Given the description of an element on the screen output the (x, y) to click on. 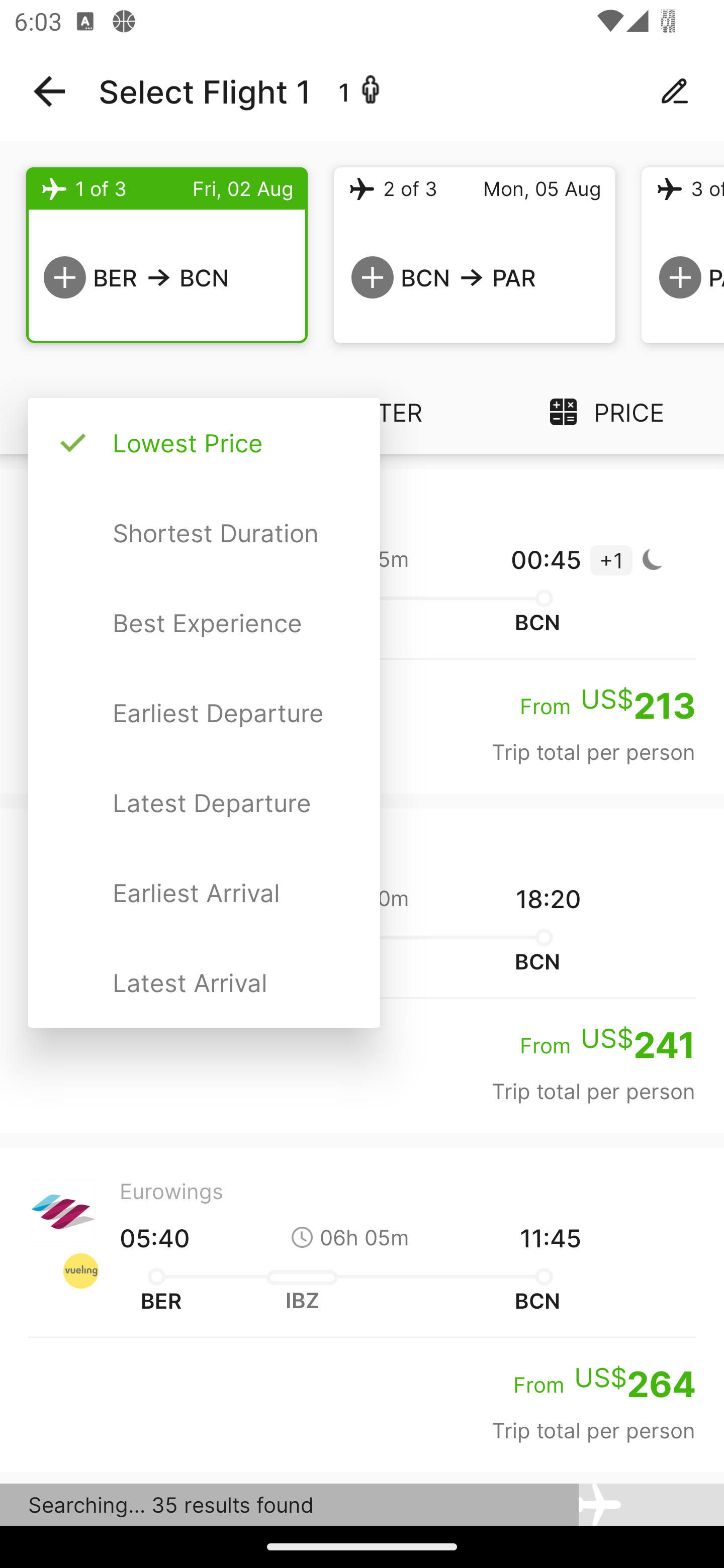
Lowest Price (204, 442)
Shortest Duration (204, 532)
Best Experience (204, 622)
Earliest Departure (204, 712)
Latest Departure (204, 802)
Earliest Arrival (204, 892)
Latest Arrival (204, 982)
